Given the description of an element on the screen output the (x, y) to click on. 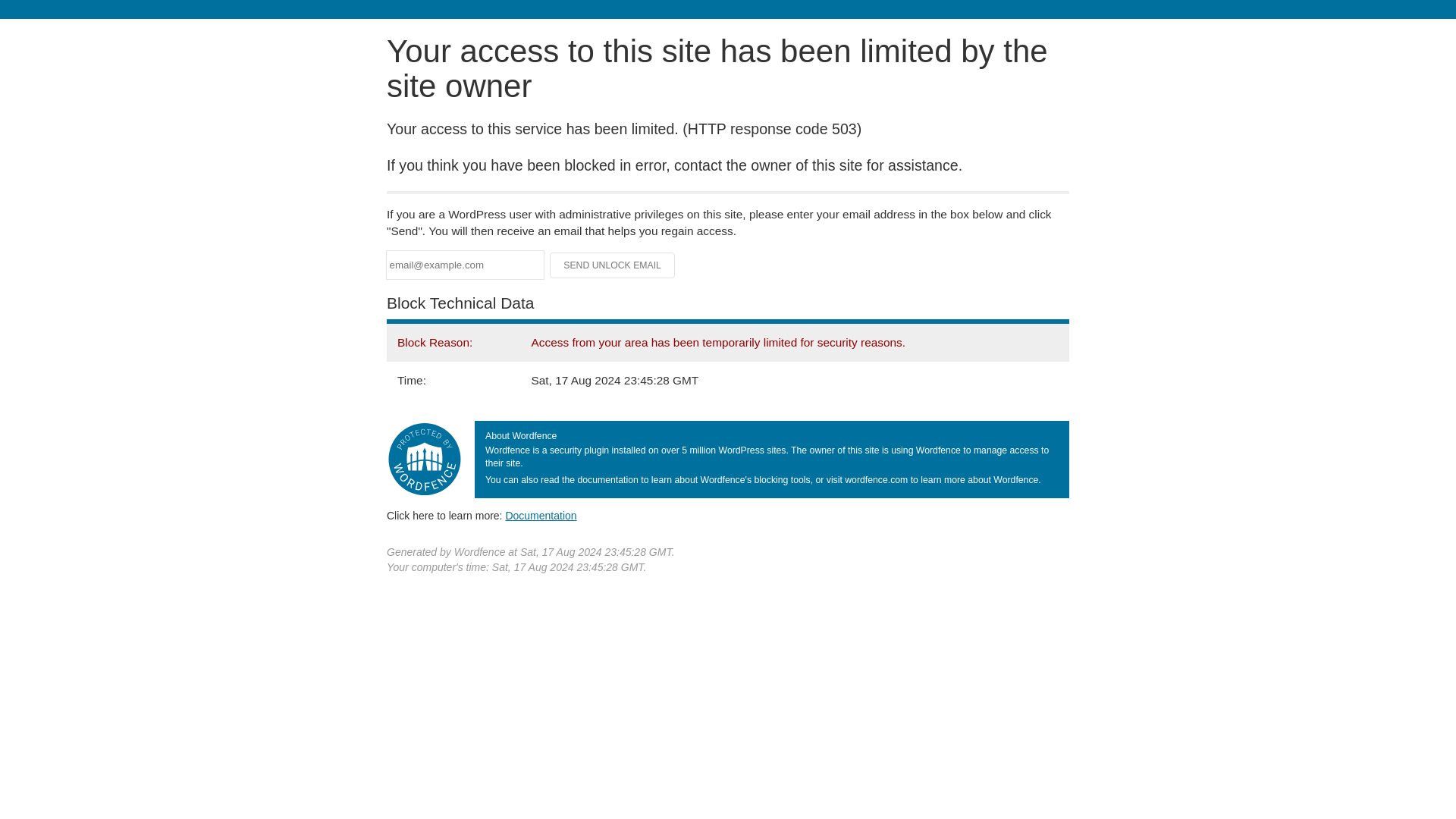
Send Unlock Email (612, 265)
Documentation (540, 515)
Send Unlock Email (612, 265)
